Given the description of an element on the screen output the (x, y) to click on. 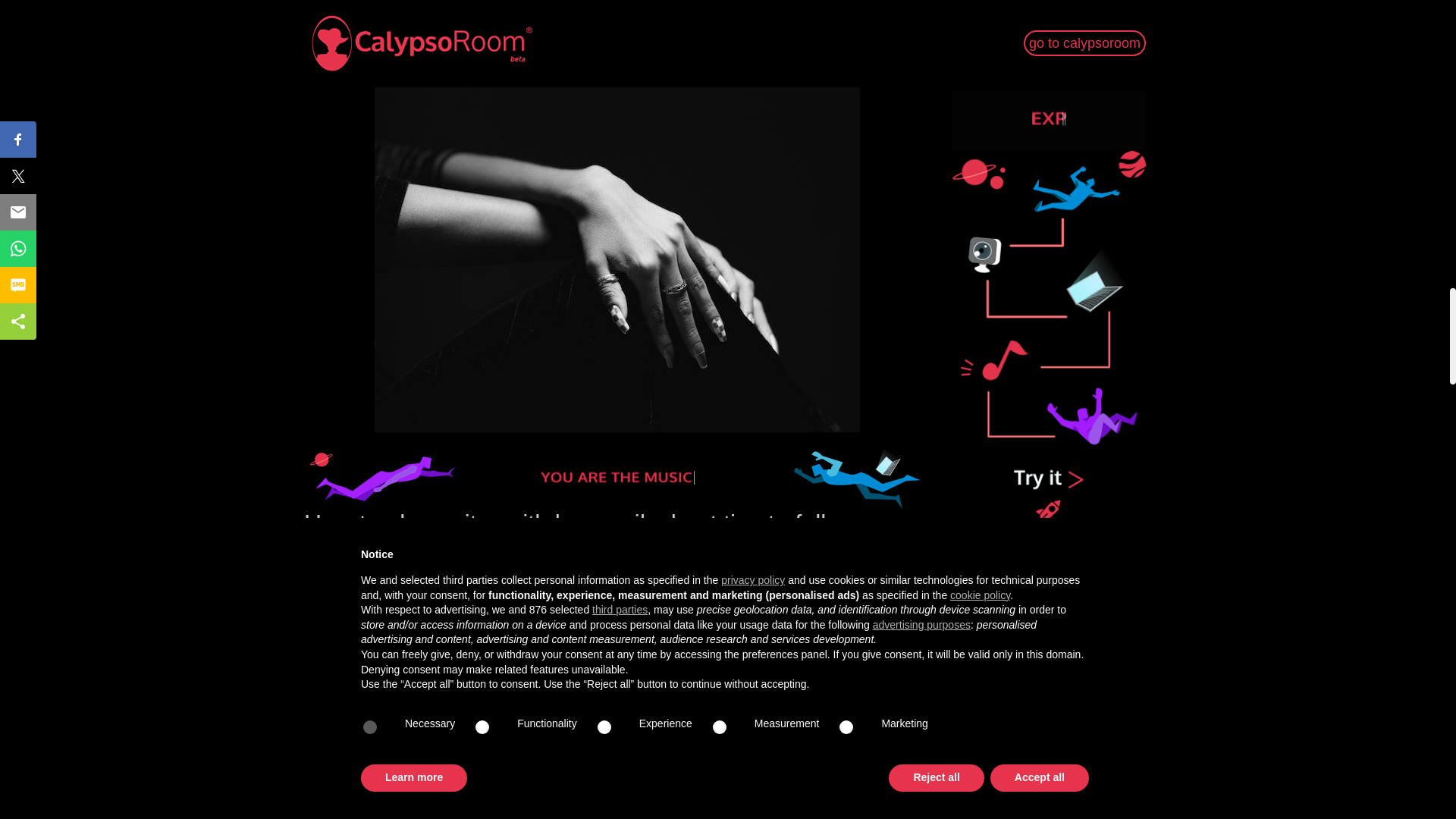
YouTube video player (617, 734)
